Given the description of an element on the screen output the (x, y) to click on. 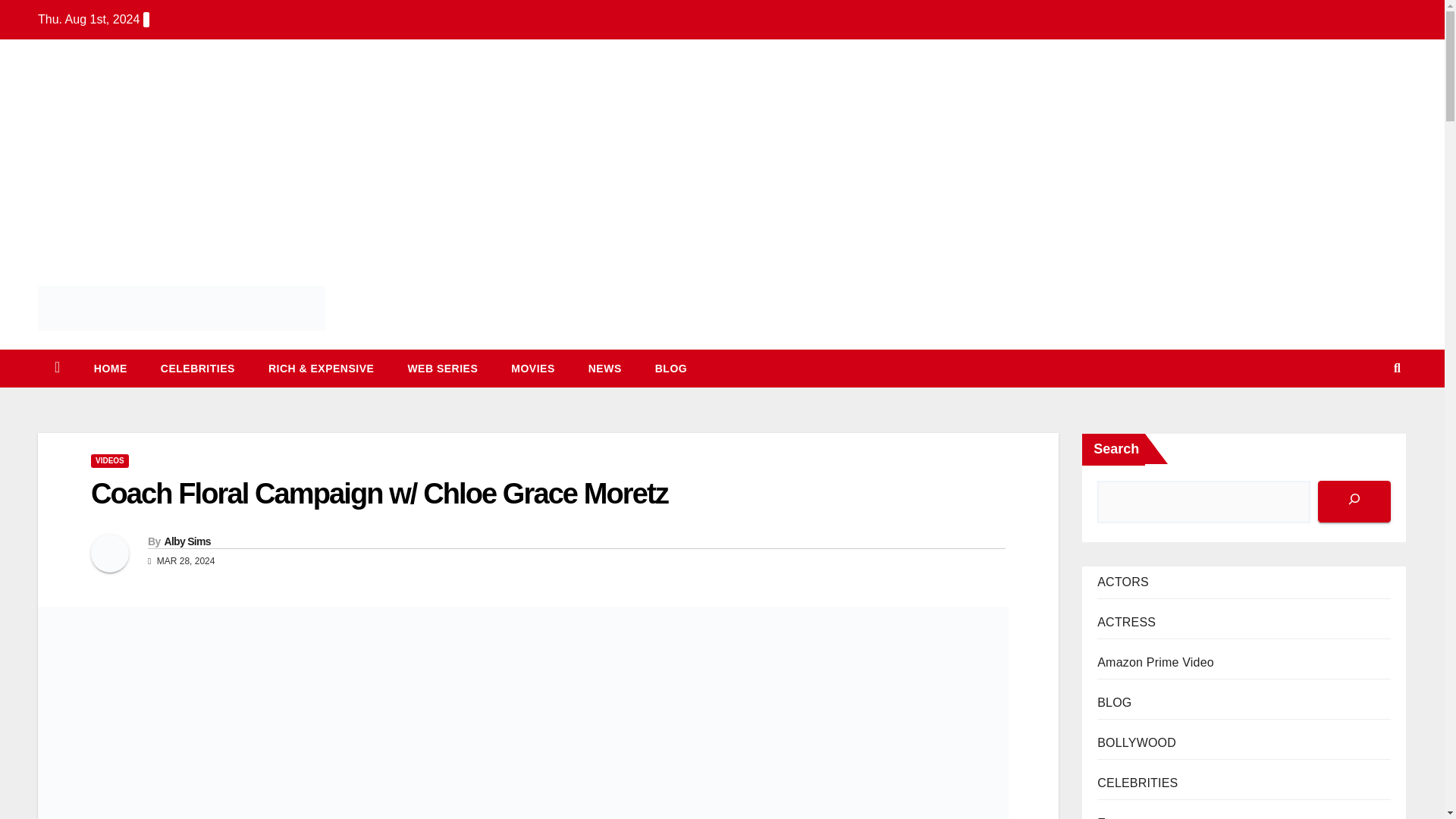
NEWS (605, 368)
VIDEOS (109, 460)
HOME (110, 368)
BLOG (671, 368)
HOME (110, 368)
CELEBRITIES (197, 368)
WEB SERIES (442, 368)
Alby Sims (186, 541)
CELEBRITIES (197, 368)
WEB SERIES (442, 368)
MOVIES (532, 368)
